Given the description of an element on the screen output the (x, y) to click on. 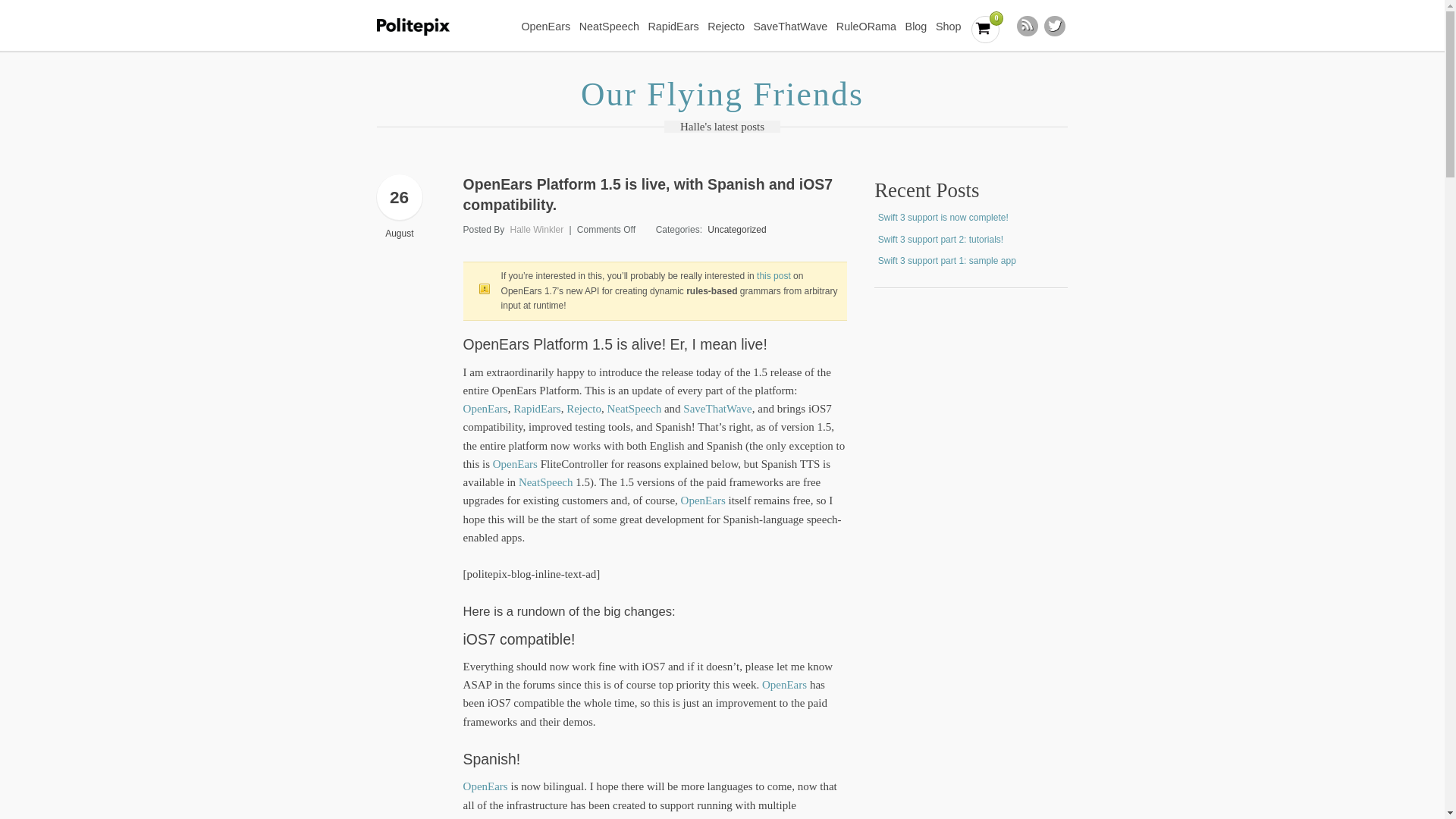
SaveThatWave (786, 27)
0 (984, 29)
Uncategorized (736, 229)
OpenEars (541, 27)
Blog (911, 27)
Halle Winkler (537, 229)
Blog (911, 27)
Shop (945, 27)
View your shopping cart (984, 29)
